Given the description of an element on the screen output the (x, y) to click on. 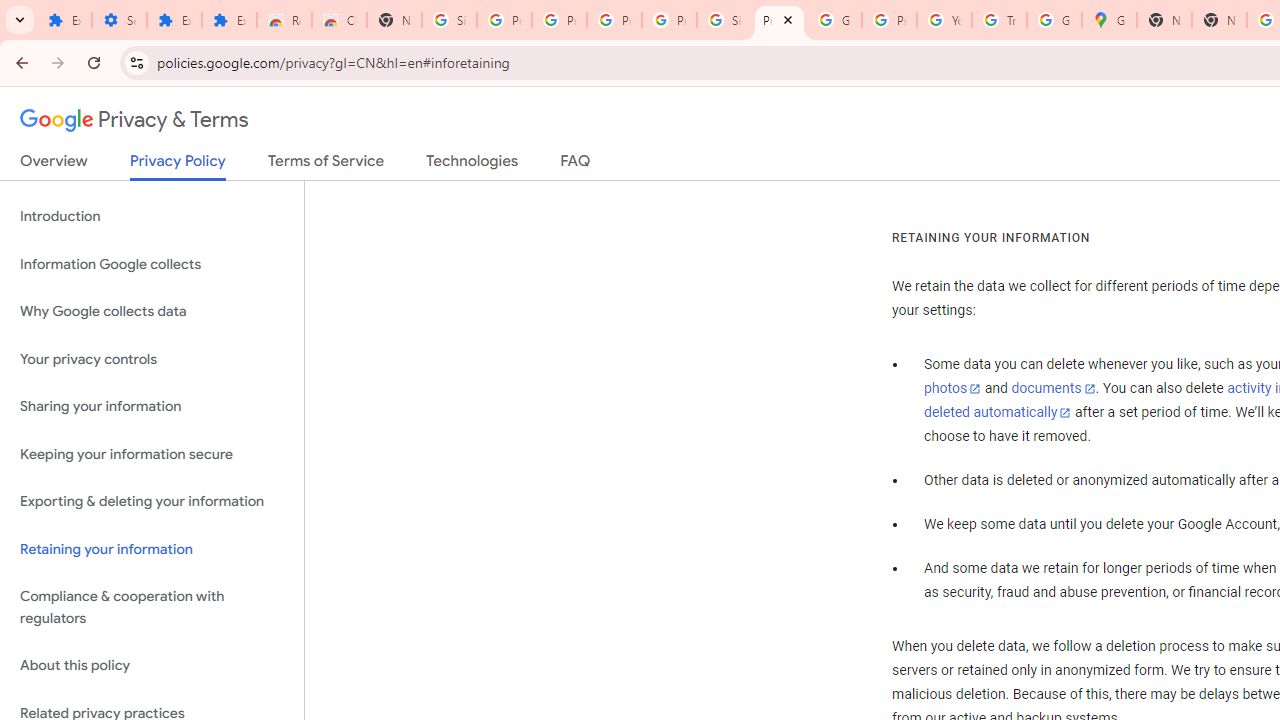
Sign in - Google Accounts (724, 20)
New Tab (394, 20)
Privacy & Terms (134, 120)
Why Google collects data (152, 312)
Sign in - Google Accounts (449, 20)
Retaining your information (152, 548)
Technologies (472, 165)
Keeping your information secure (152, 453)
Extensions (64, 20)
Chrome Web Store - Themes (339, 20)
